Given the description of an element on the screen output the (x, y) to click on. 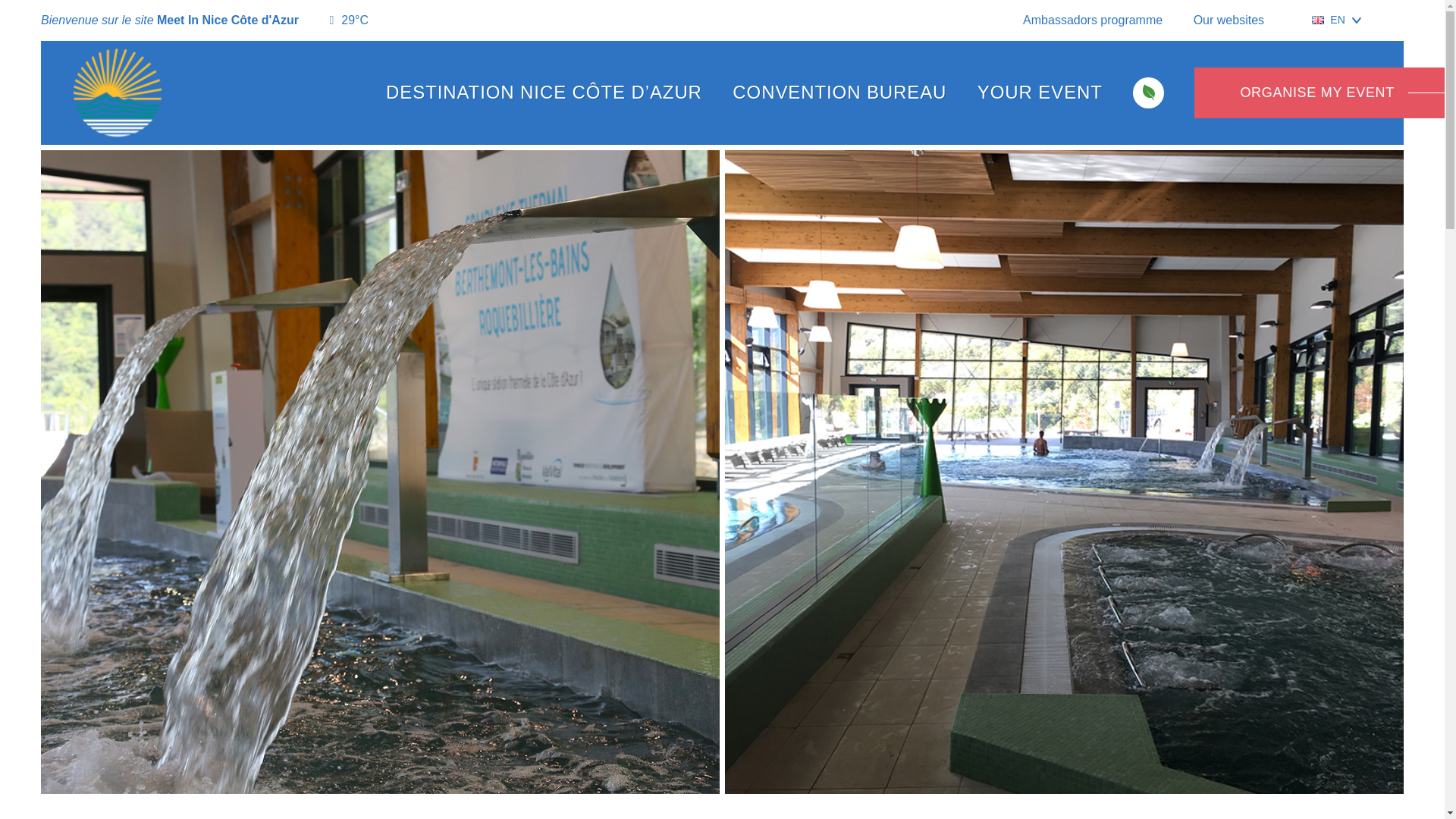
Our websites (1237, 20)
CONVENTION BUREAU (845, 92)
Search (1397, 20)
Ambassadors programme (1092, 20)
EN (1336, 19)
